Given the description of an element on the screen output the (x, y) to click on. 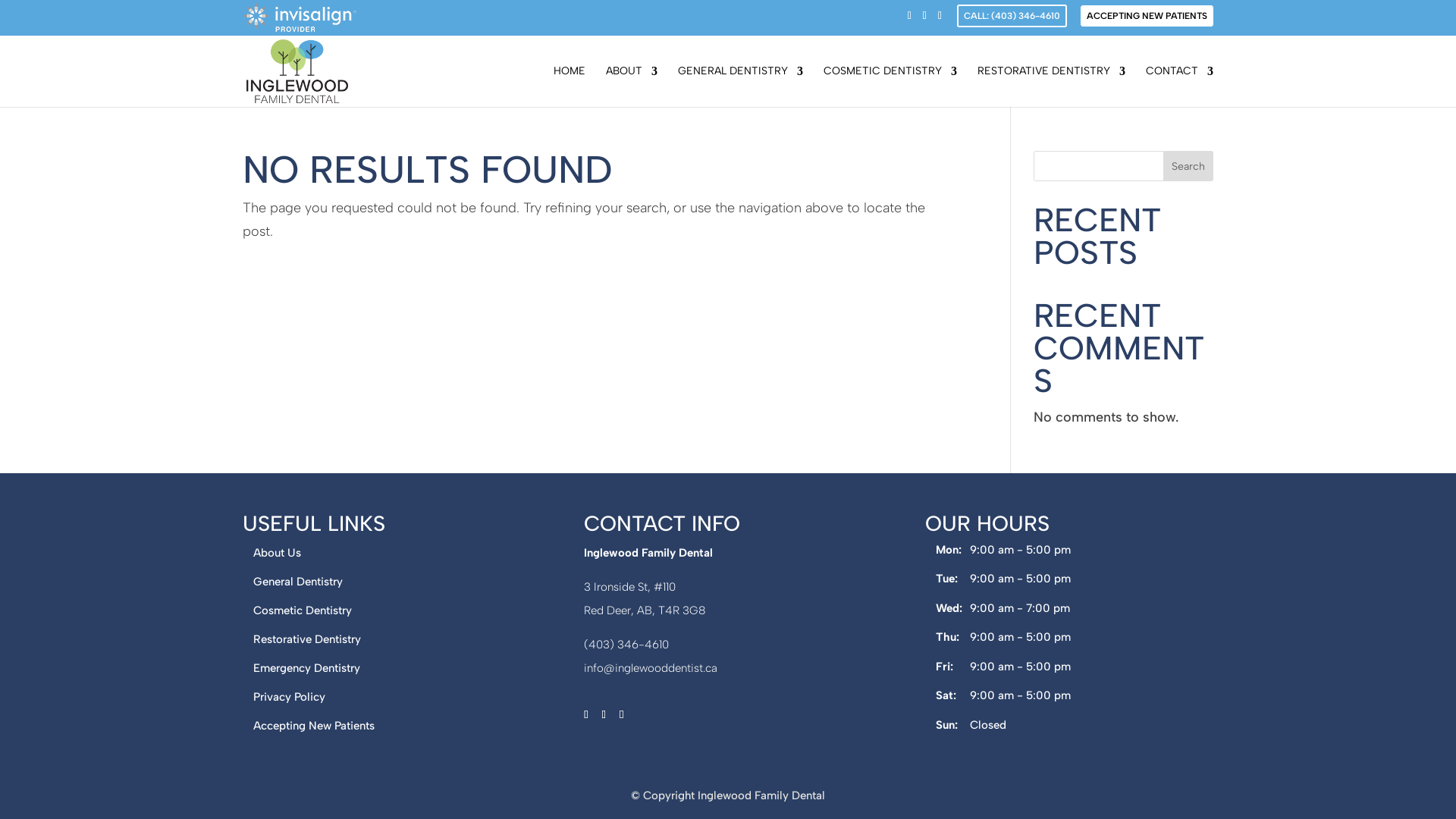
Restorative Dentistry Element type: text (306, 639)
About Us Element type: text (277, 552)
HOME Element type: text (569, 85)
Accepting New Patients Element type: text (313, 725)
Cosmetic Dentistry Element type: text (302, 610)
Privacy Policy Element type: text (289, 696)
(403) 346-4610 Element type: text (625, 644)
CONTACT Element type: text (1179, 85)
RESTORATIVE DENTISTRY Element type: text (1051, 85)
GENERAL DENTISTRY Element type: text (740, 85)
info@inglewooddentist.ca Element type: text (650, 667)
Search Element type: text (1188, 165)
ABOUT Element type: text (631, 85)
Emergency Dentistry Element type: text (306, 667)
ACCEPTING NEW PATIENTS Element type: text (1146, 15)
General Dentistry Element type: text (297, 581)
CALL: (403) 346-4610 Element type: text (1011, 15)
COSMETIC DENTISTRY Element type: text (890, 85)
